Given the description of an element on the screen output the (x, y) to click on. 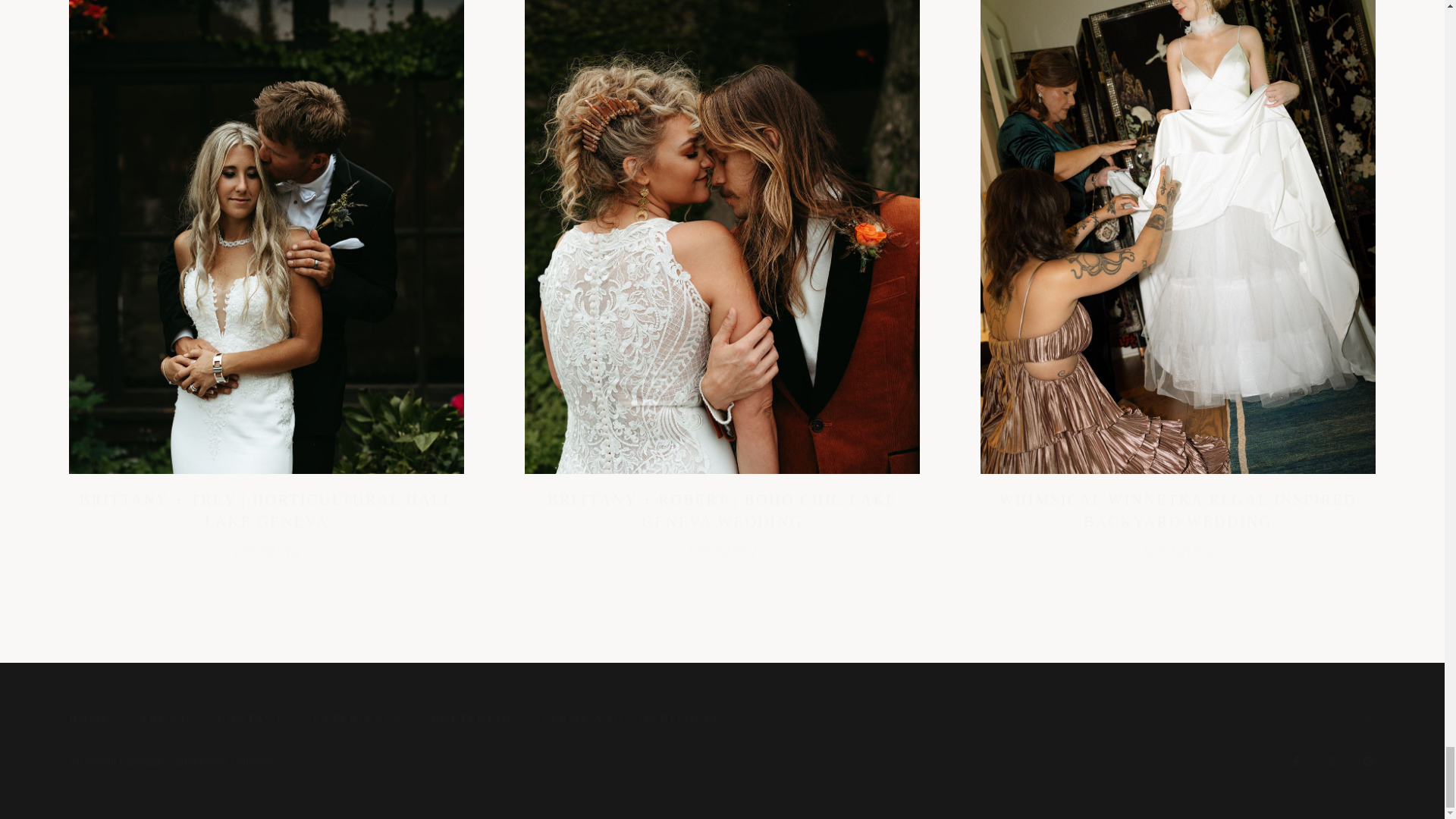
wedding (1177, 549)
wedding (266, 549)
HOME (90, 718)
CONTACT (250, 718)
ABOUT (164, 718)
wedding (722, 549)
